Given the description of an element on the screen output the (x, y) to click on. 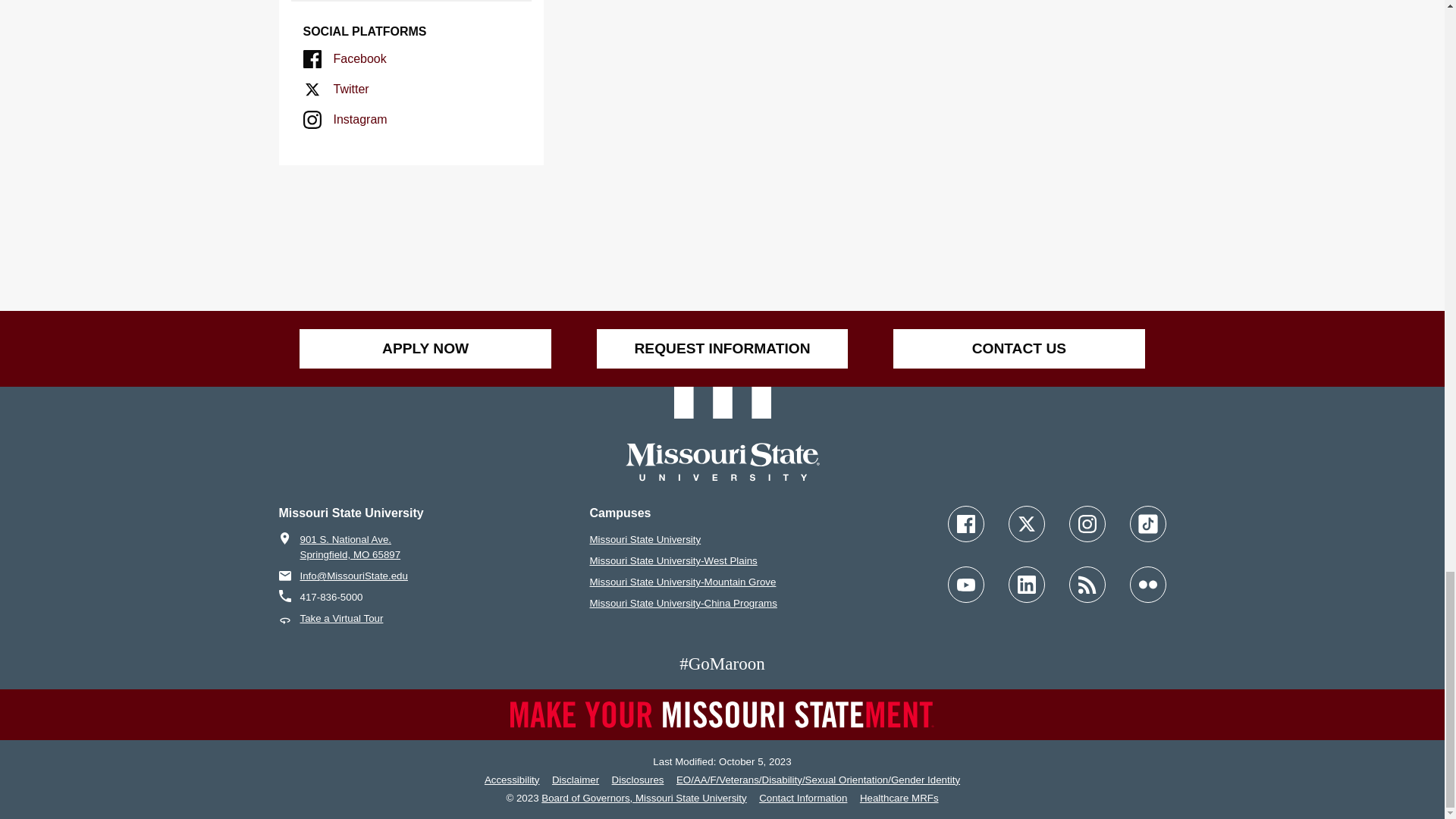
Follow Missouri State on YouTube (965, 584)
Follow Missouri State on TikTok (1147, 524)
Follow Missouri State on Flickr (1147, 584)
Follow Missouri State on X (1027, 524)
Follow Missouri State Blogs (1086, 584)
Follow Missouri State on LinkedIn (1027, 584)
Follow Missouri State on Facebook (965, 524)
Follow Missouri State on Instagram (1086, 524)
